Given the description of an element on the screen output the (x, y) to click on. 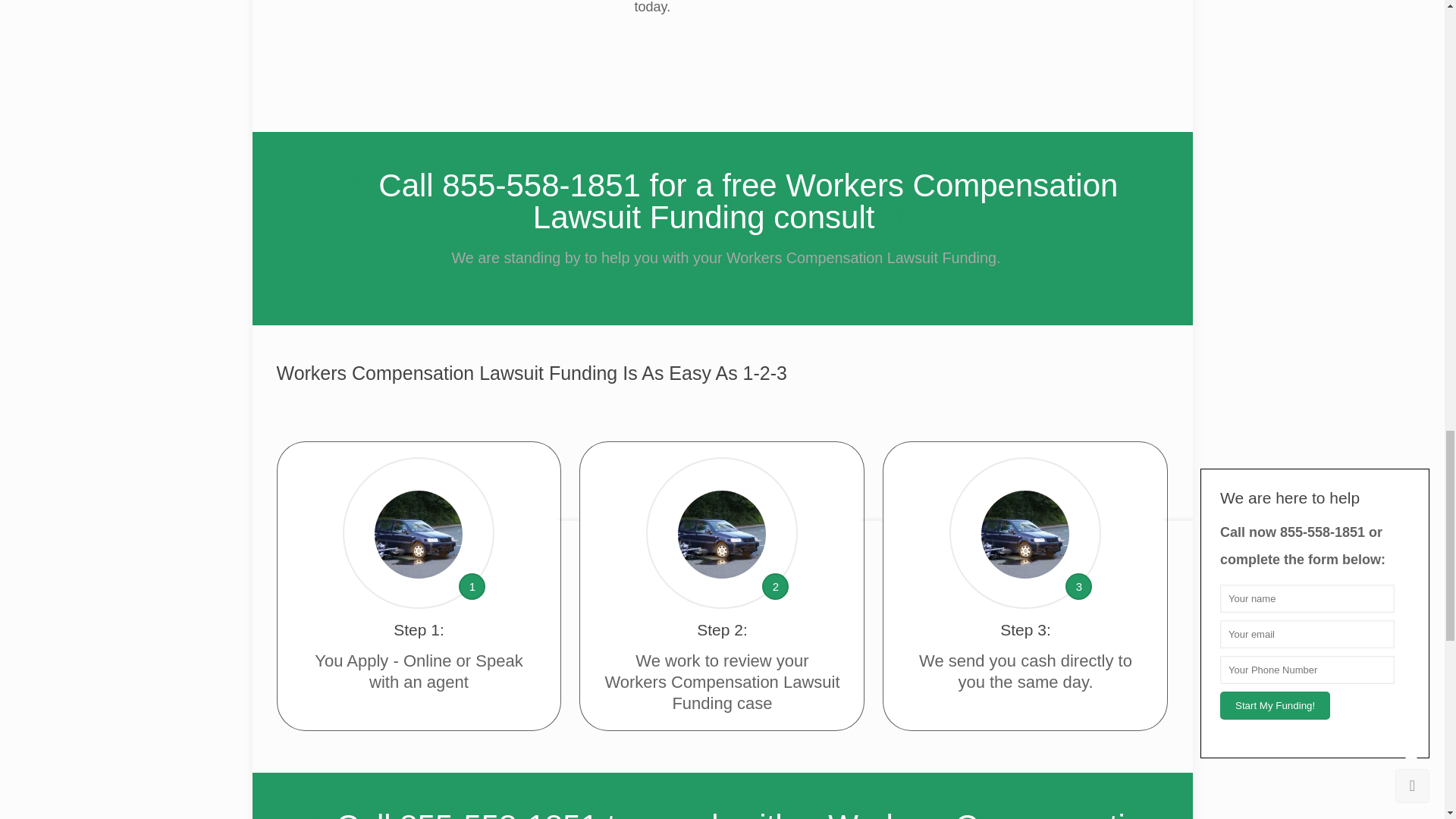
Step Equinox Legal Funding (418, 534)
Step Equinox Legal Funding (721, 534)
Step Equinox Legal Funding (1024, 534)
